Given the description of an element on the screen output the (x, y) to click on. 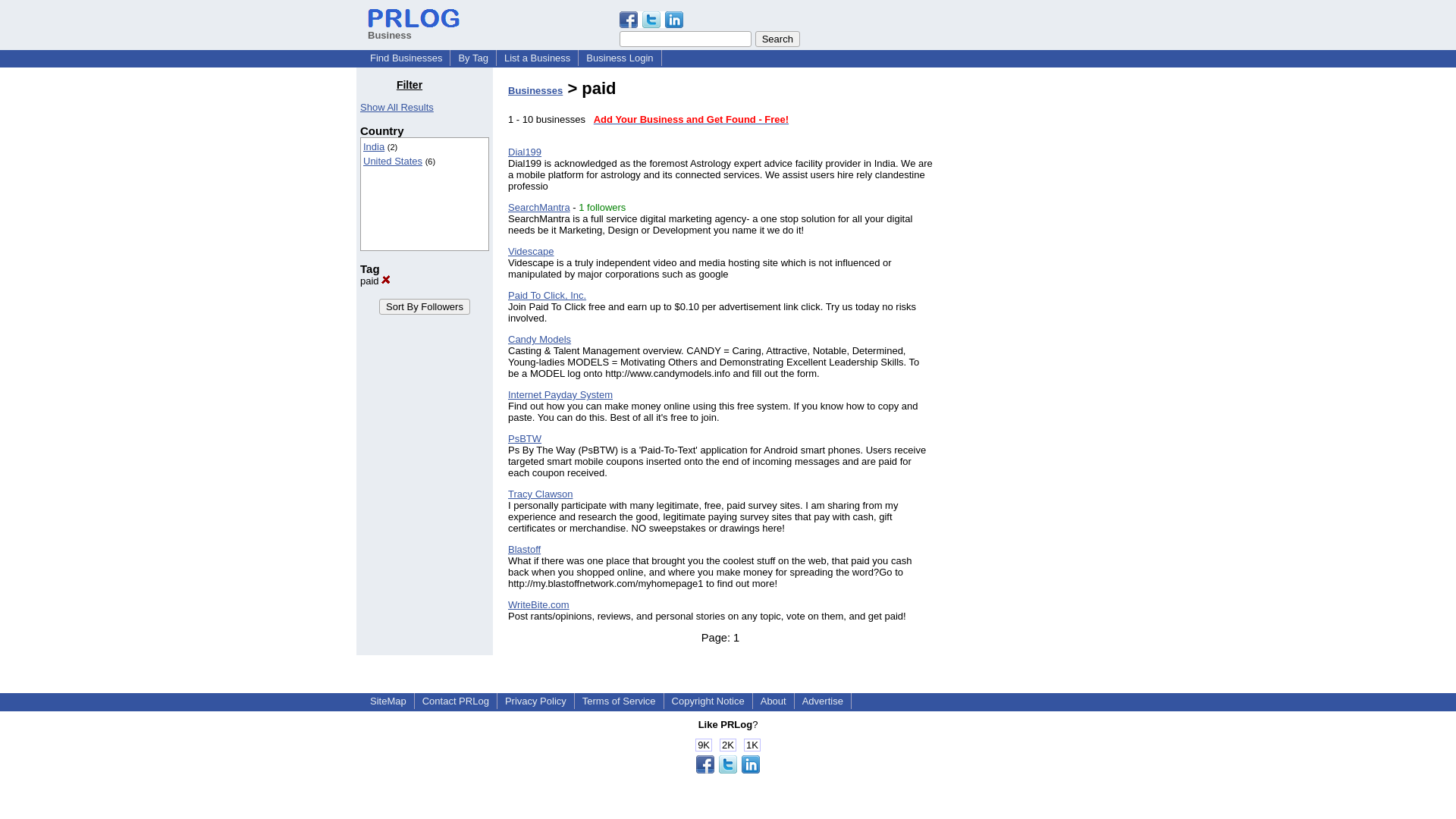
Internet Payday System (560, 394)
Search (777, 38)
Blastoff (524, 549)
Find Businesses (406, 57)
Paid To Click, Inc. (547, 295)
Candy Models (539, 338)
Business (414, 29)
Copyright Notice (708, 700)
Privacy Policy (535, 700)
List a Business (536, 57)
Add Your Business and Get Found - Free! (691, 119)
SearchMantra (539, 206)
paid (374, 280)
Business Login (619, 57)
WriteBite.com (538, 604)
